Given the description of an element on the screen output the (x, y) to click on. 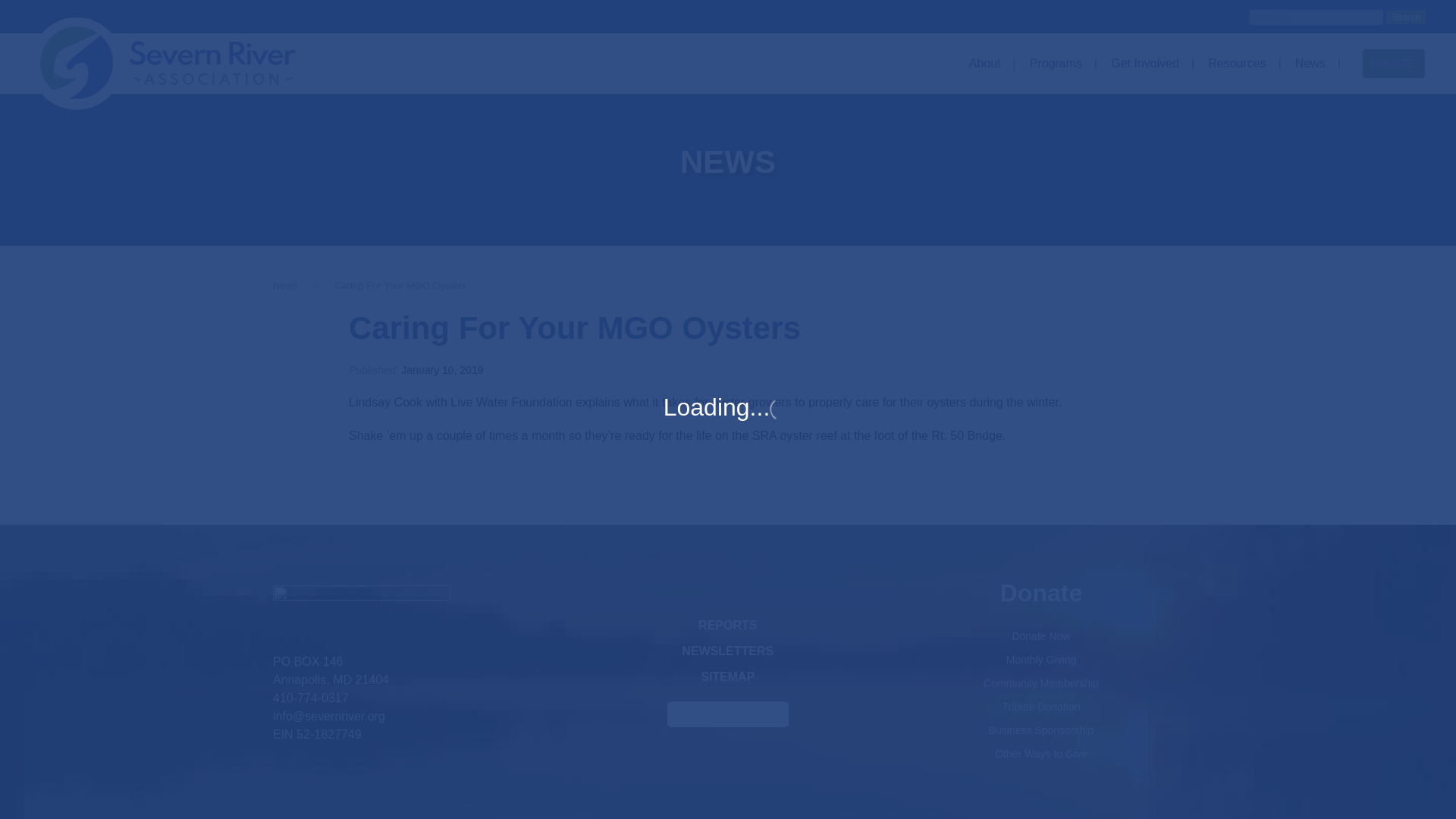
Programs (1059, 63)
DONATE (1393, 63)
Search (1405, 17)
Get Involved (1147, 63)
Search (1405, 17)
Search (1405, 17)
Resources (1240, 63)
